Given the description of an element on the screen output the (x, y) to click on. 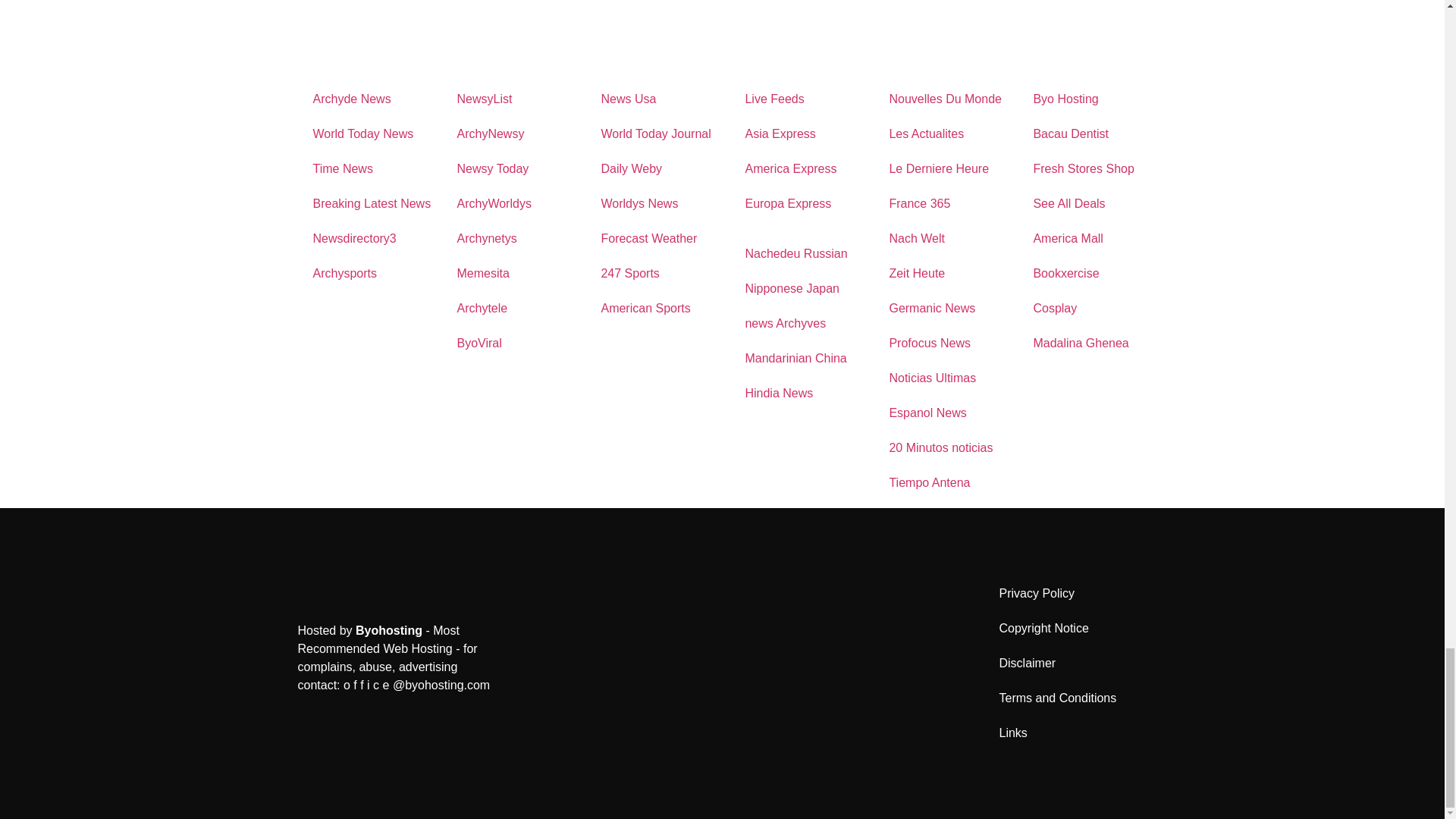
Most Recommended WebHosting (388, 630)
